Given the description of an element on the screen output the (x, y) to click on. 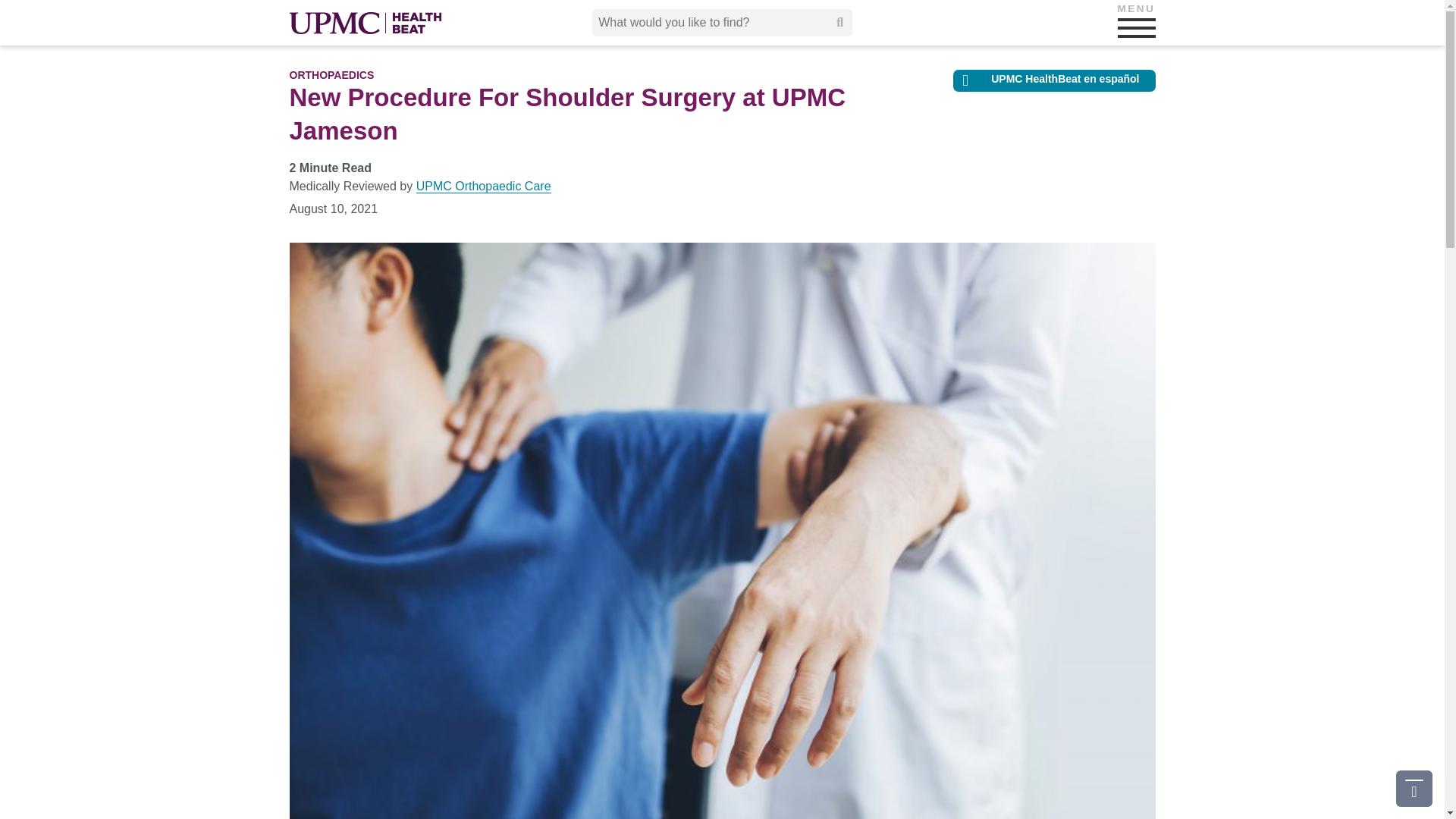
  MENU (1137, 27)
UPMC HealthBeat (365, 22)
Submit search (839, 22)
